Given the description of an element on the screen output the (x, y) to click on. 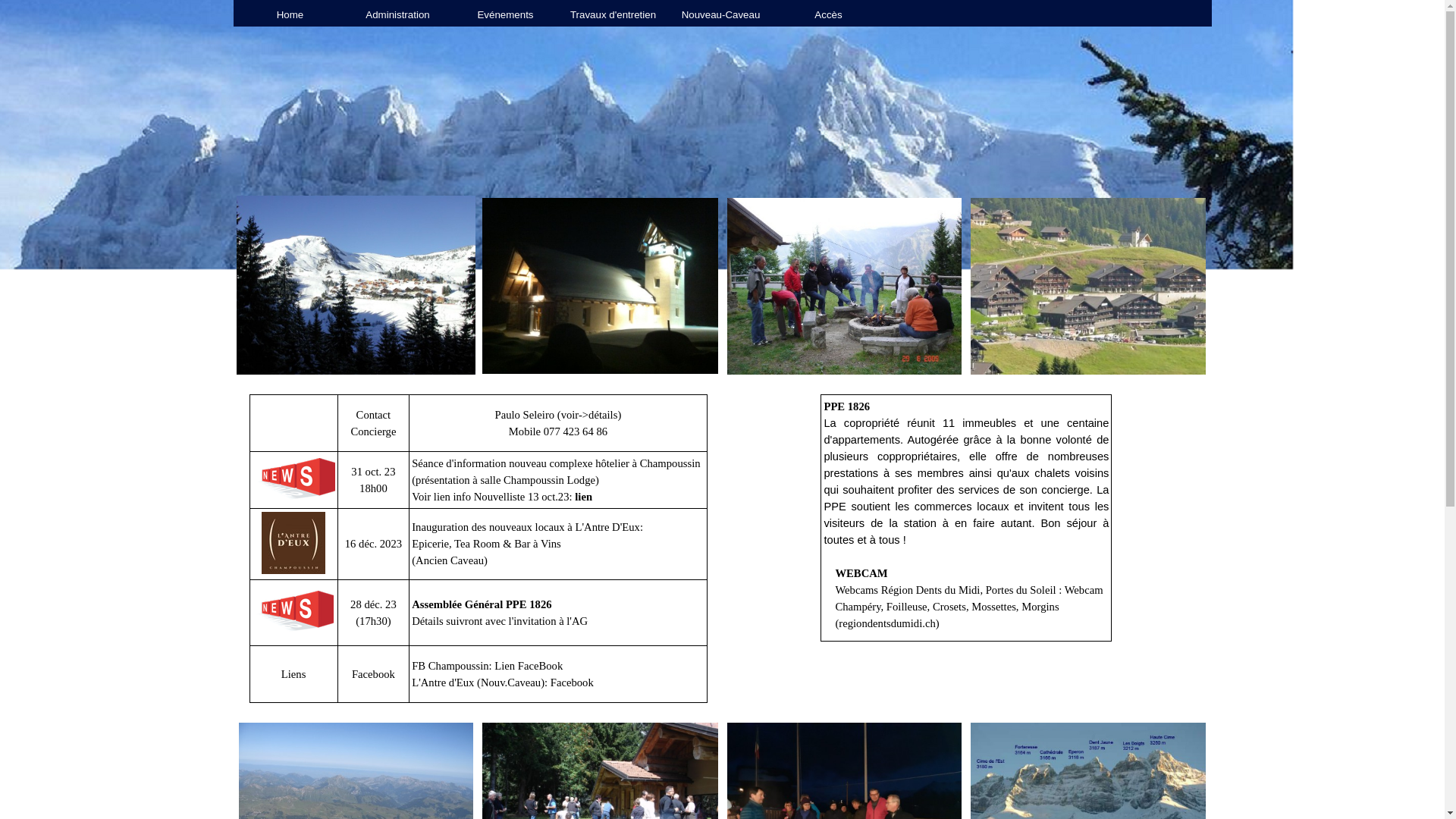
lien Element type: text (583, 496)
Administration Element type: text (397, 14)
Travaux d'entretien Element type: text (613, 14)
Facebook Element type: text (571, 682)
Lien FaceBook Element type: text (528, 665)
Nouveau-Caveau Element type: text (720, 14)
Home Element type: text (290, 14)
